Given the description of an element on the screen output the (x, y) to click on. 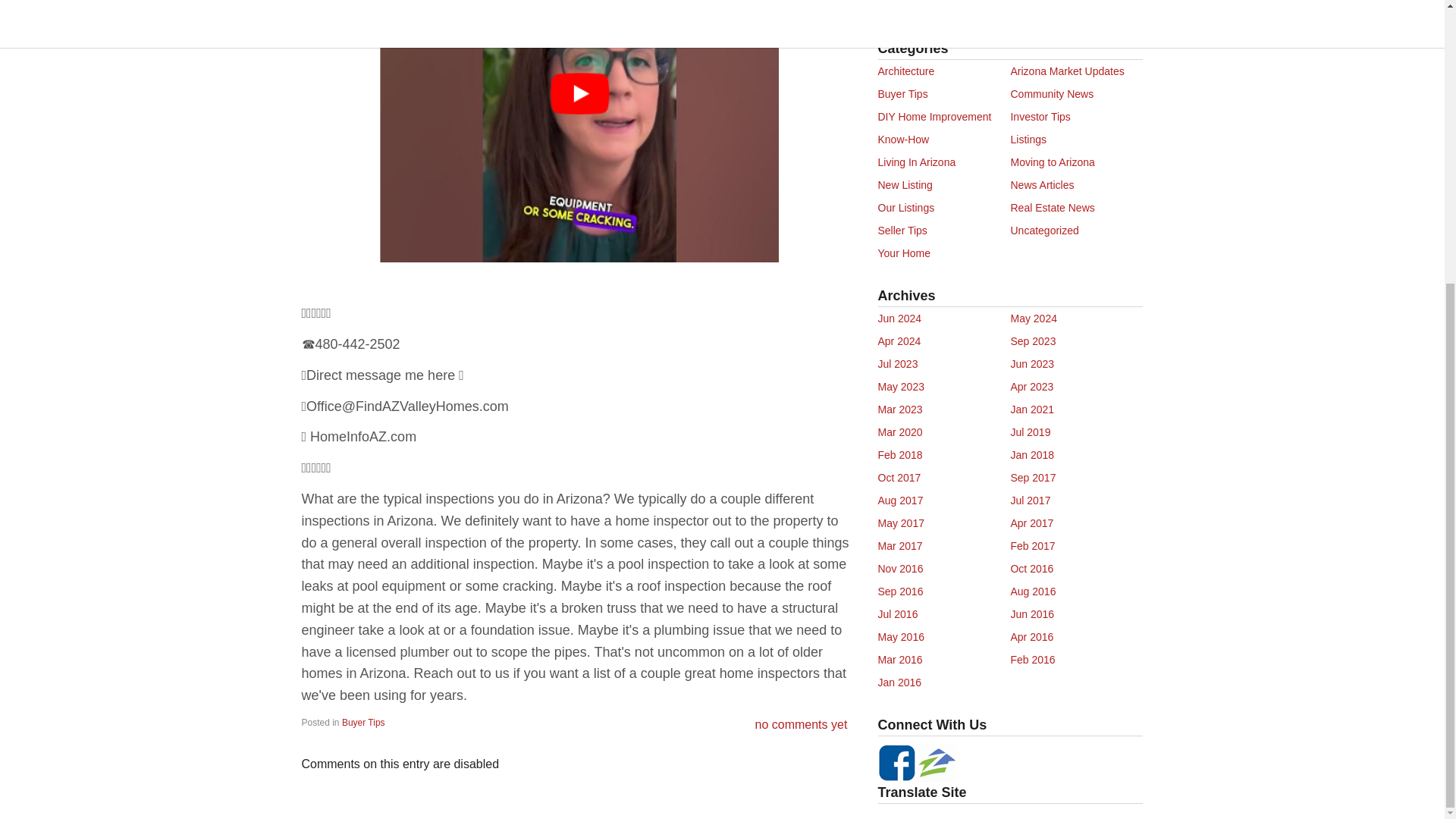
Our Listings (905, 207)
DIY Home Improvement (934, 116)
Moving to Arizona (1052, 162)
News Articles (1042, 184)
Community News (1051, 93)
Buyer Tips (902, 93)
Architecture (905, 70)
Investor Tips (1040, 116)
Zillow (937, 761)
New Listing (905, 184)
